Given the description of an element on the screen output the (x, y) to click on. 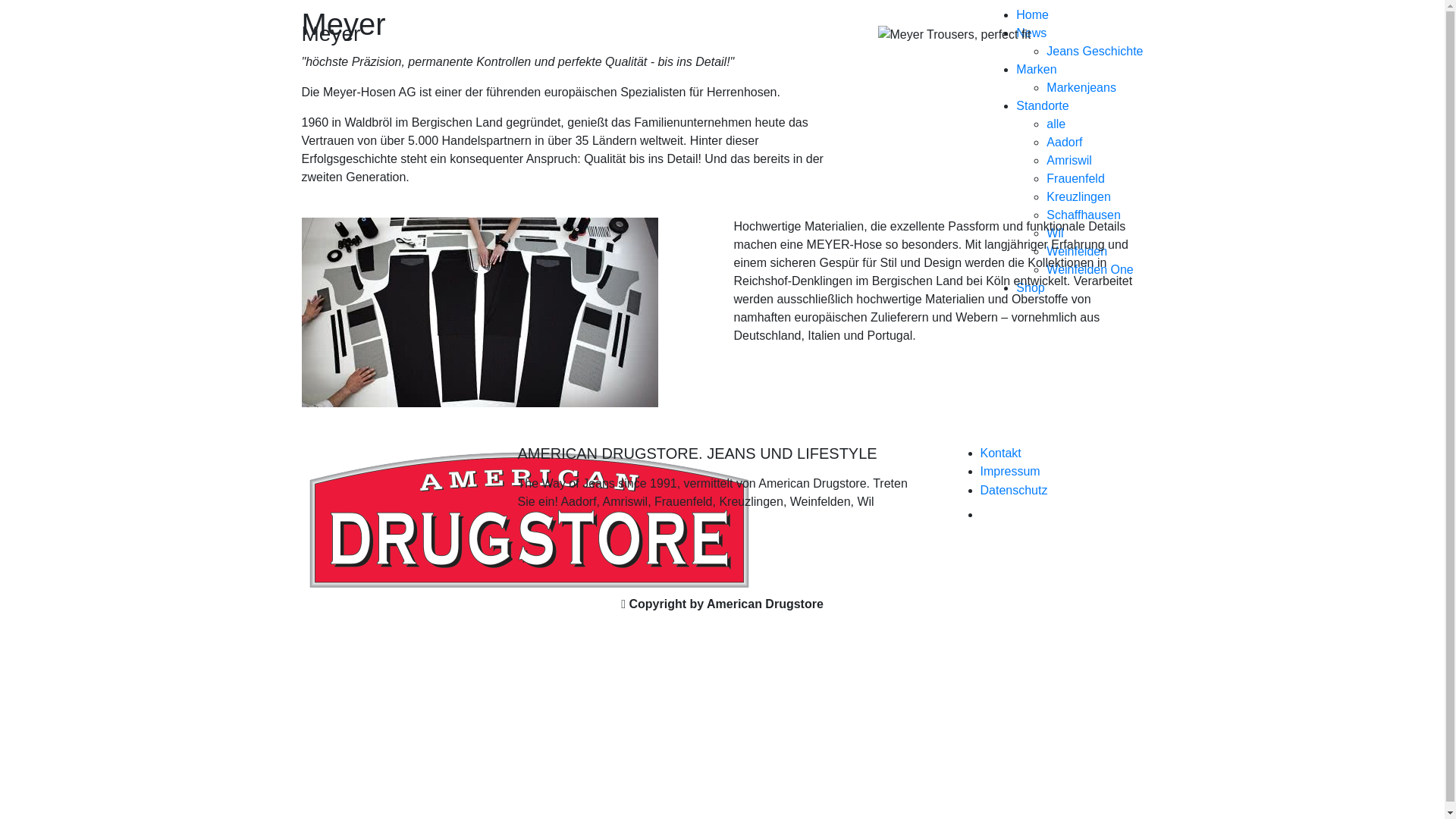
Frauenfeld Element type: text (1075, 178)
Home Element type: text (1032, 14)
News Element type: text (1031, 32)
Impressum Element type: text (1009, 470)
Schaffhausen Element type: text (1083, 214)
Marken Element type: text (1036, 68)
Standorte Element type: text (1042, 105)
Weinfelden Element type: text (1076, 250)
alle Element type: text (1055, 123)
Amriswil Element type: text (1069, 159)
Jeans Geschichte Element type: text (1094, 50)
Aadorf Element type: text (1064, 141)
Weinfelden One Element type: text (1089, 269)
Kreuzlingen Element type: text (1078, 196)
Markenjeans Element type: text (1081, 87)
Datenschutz Element type: text (1013, 489)
Shop Element type: text (1030, 287)
American Drugstore Element type: hover (361, 300)
Wil Element type: text (1054, 232)
Kontakt Element type: text (999, 452)
